Given the description of an element on the screen output the (x, y) to click on. 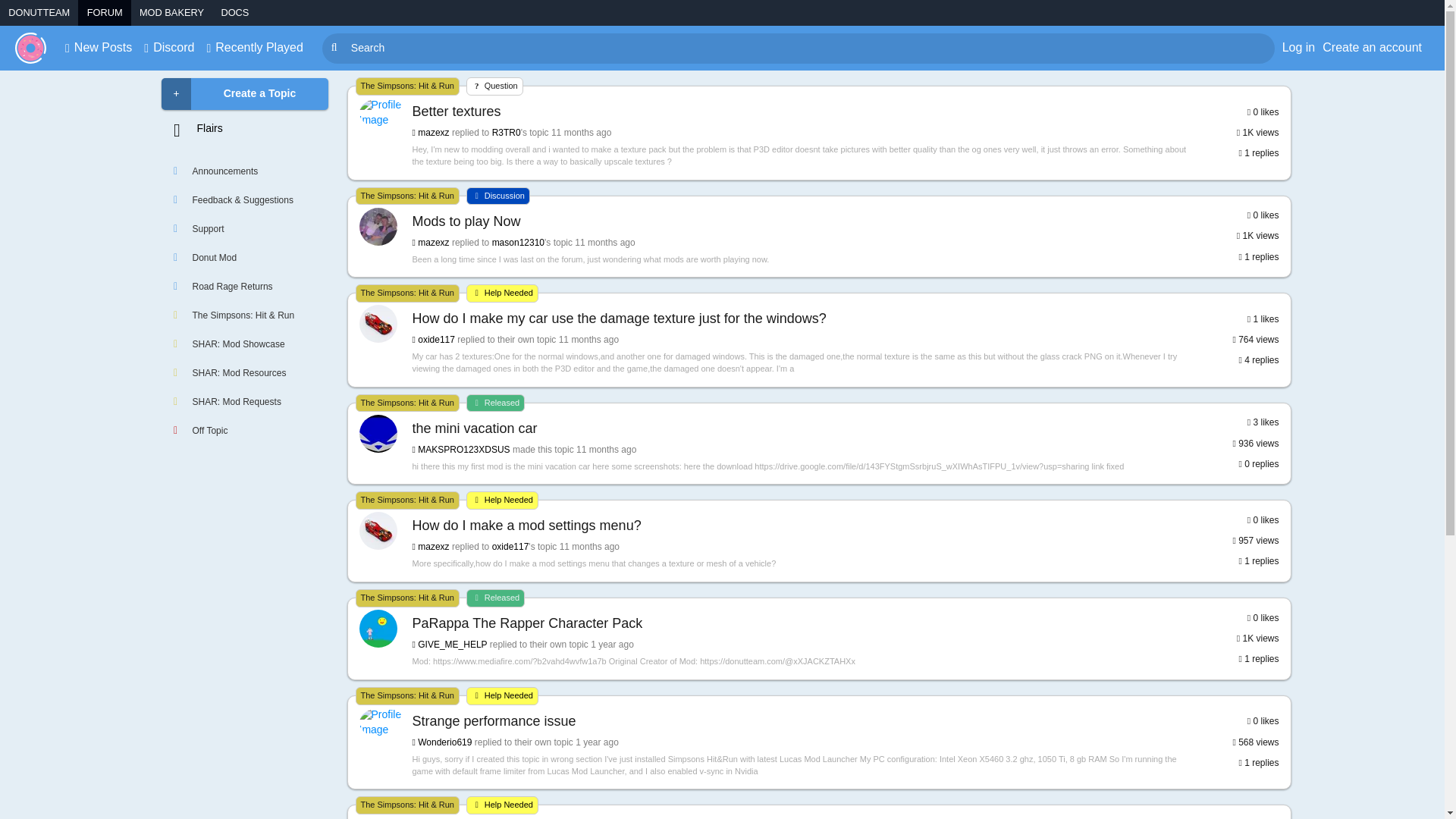
DONUTTEAM (39, 12)
Discord (168, 47)
New Posts (98, 47)
R3TR0 (506, 132)
Better textures (803, 111)
Log in (1299, 47)
Donut Mod (243, 257)
mason12310 (518, 242)
Flairs (243, 133)
